Given the description of an element on the screen output the (x, y) to click on. 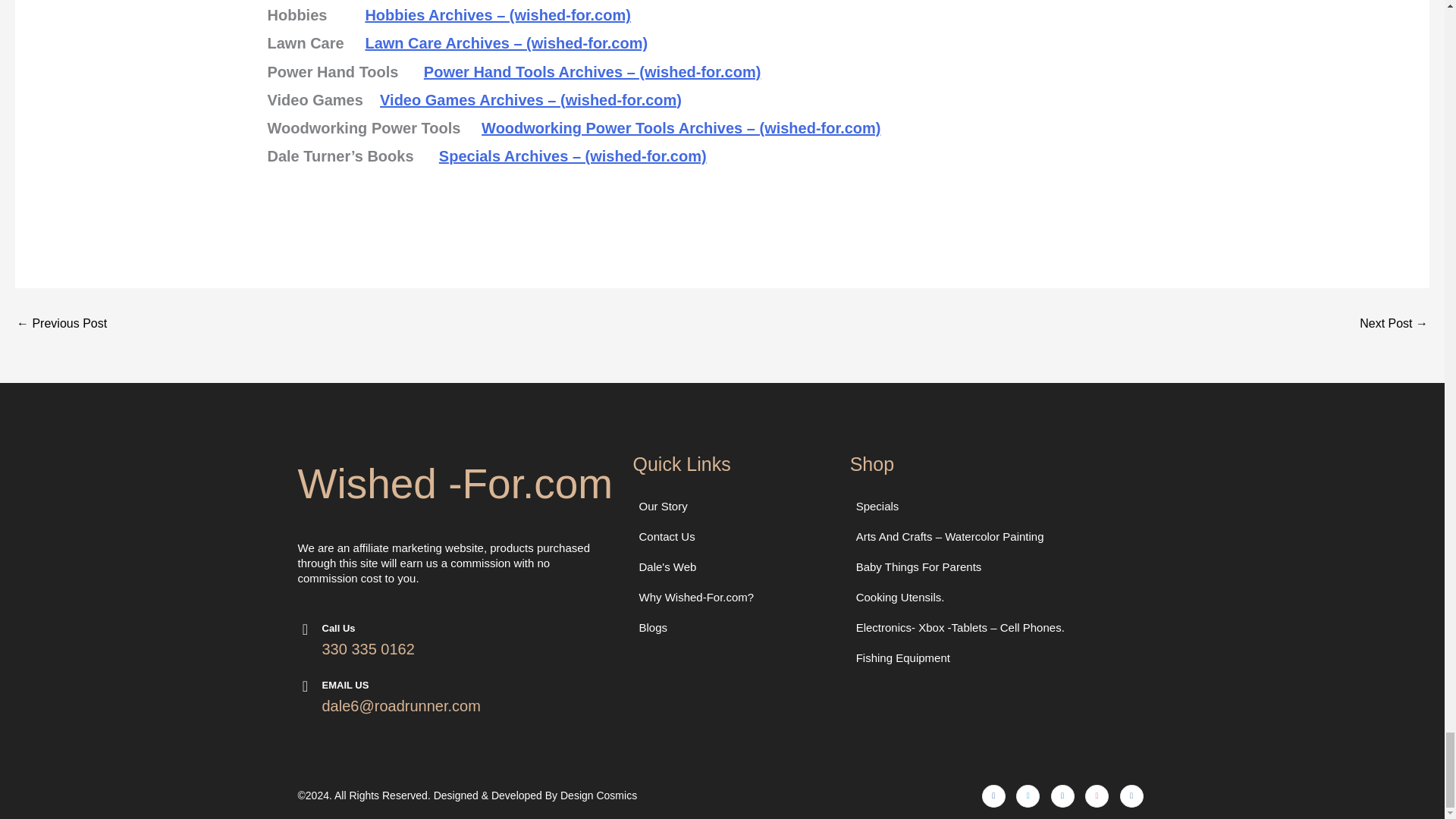
Ten Player Board Games (1393, 323)
Card Games Traditional Togetherness (61, 323)
